Given the description of an element on the screen output the (x, y) to click on. 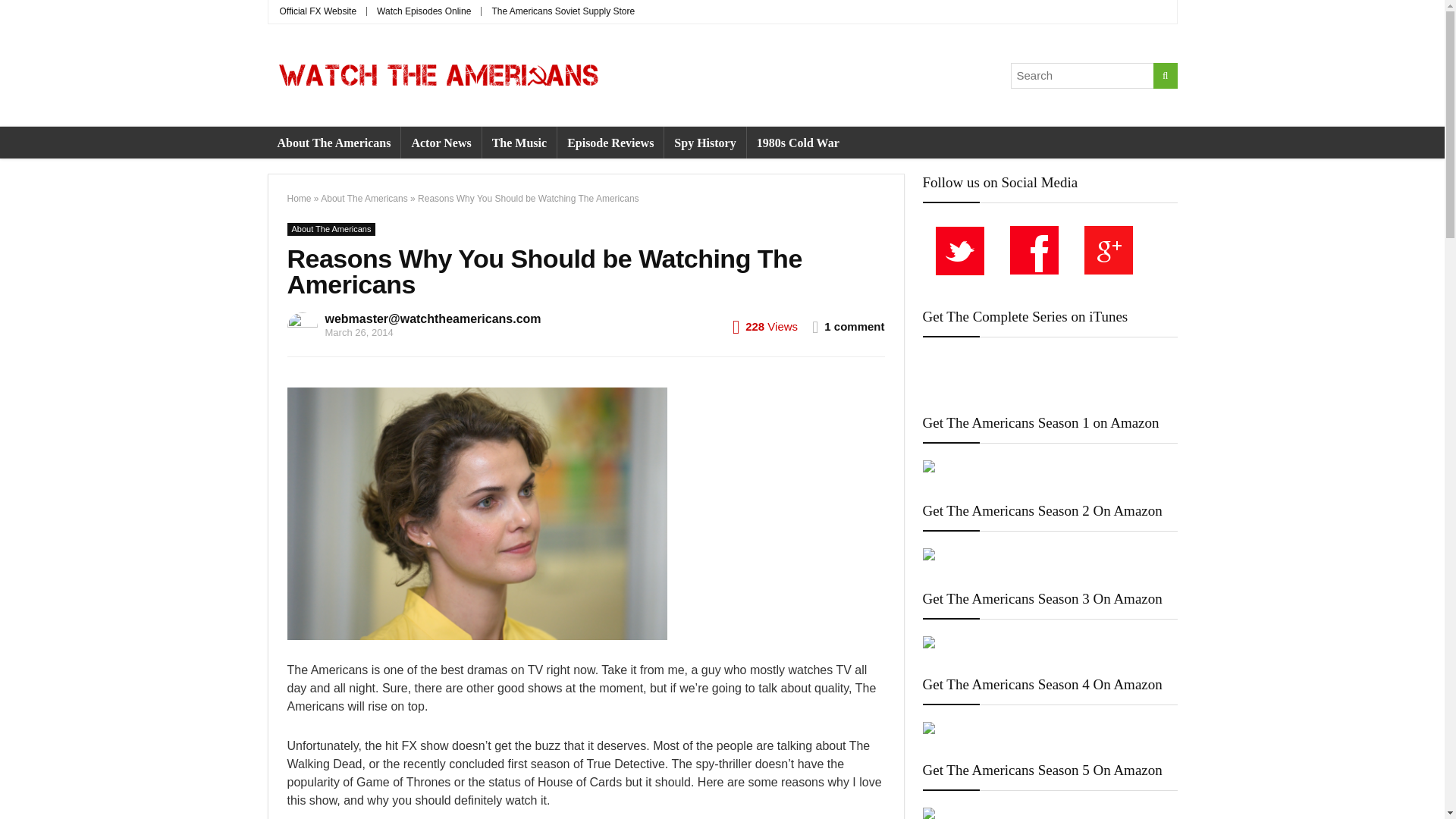
About The Americans (330, 228)
Watch Episodes Online (423, 10)
Spy History (704, 142)
1980s Cold War (797, 142)
The Music (518, 142)
The Americans Soviet Supply Store (563, 10)
Actor News (440, 142)
About The Americans (333, 142)
View all posts in About The Americans (330, 228)
About The Americans (363, 198)
Official FX Website (317, 10)
1 comment (853, 326)
Episode Reviews (610, 142)
Home (298, 198)
